Given the description of an element on the screen output the (x, y) to click on. 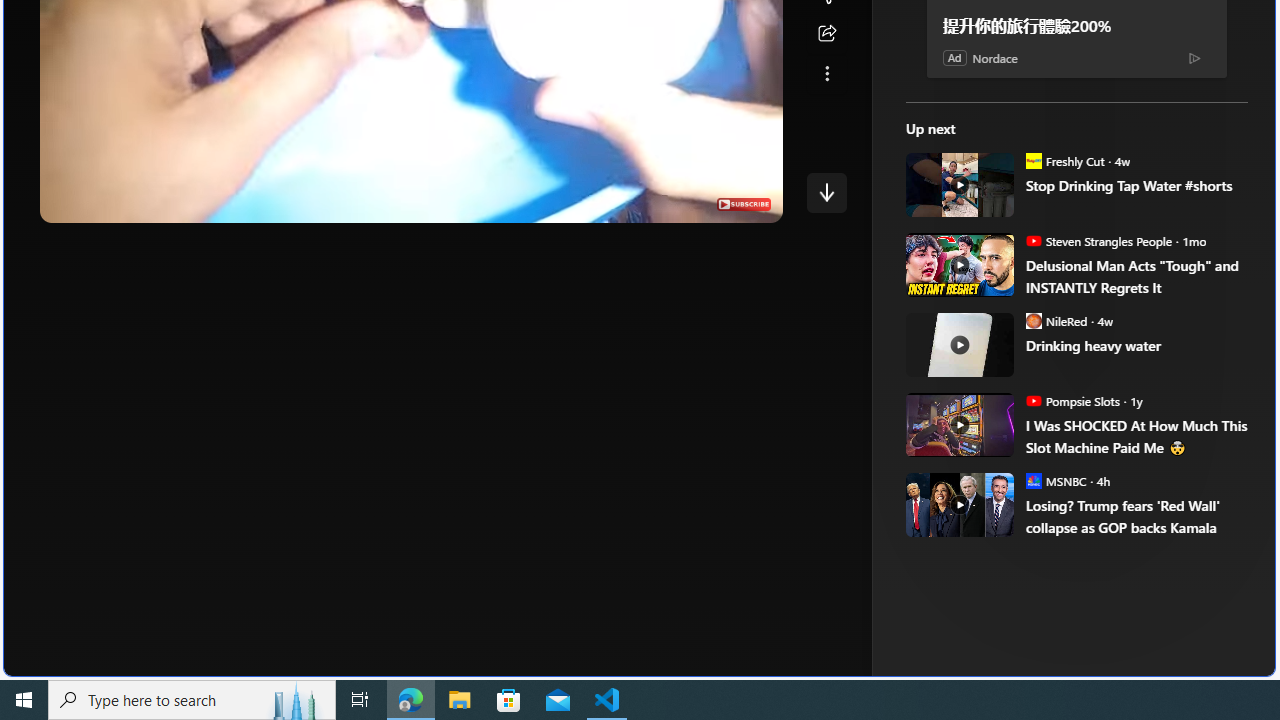
Delusional Man Acts "Tough" and INSTANTLY Regrets It (1136, 276)
See more (826, 74)
Seek slider (411, 182)
Drinking heavy water (958, 344)
Watch on YouTube (697, 202)
Pompsie Slots (1033, 399)
Pompsie Slots Pompsie Slots (1072, 399)
MSNBC (1033, 480)
Channel watermark (743, 204)
Stop Drinking Tap Water #shorts (1136, 185)
Channel watermark (743, 204)
Feedback (1199, 659)
Share this story (826, 33)
